Given the description of an element on the screen output the (x, y) to click on. 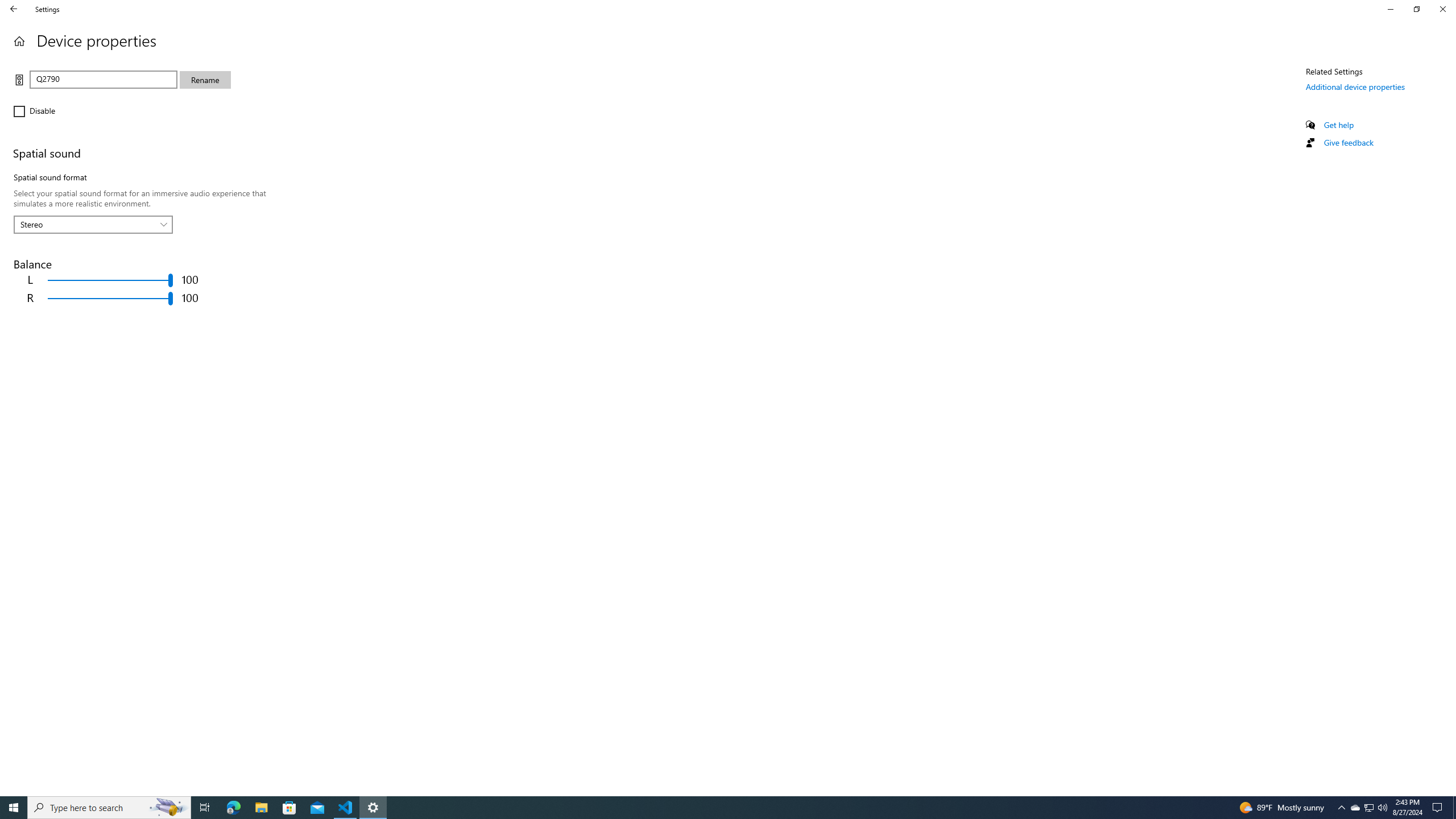
Adjust right audio balance (110, 298)
Additional device properties (1355, 86)
